Given the description of an element on the screen output the (x, y) to click on. 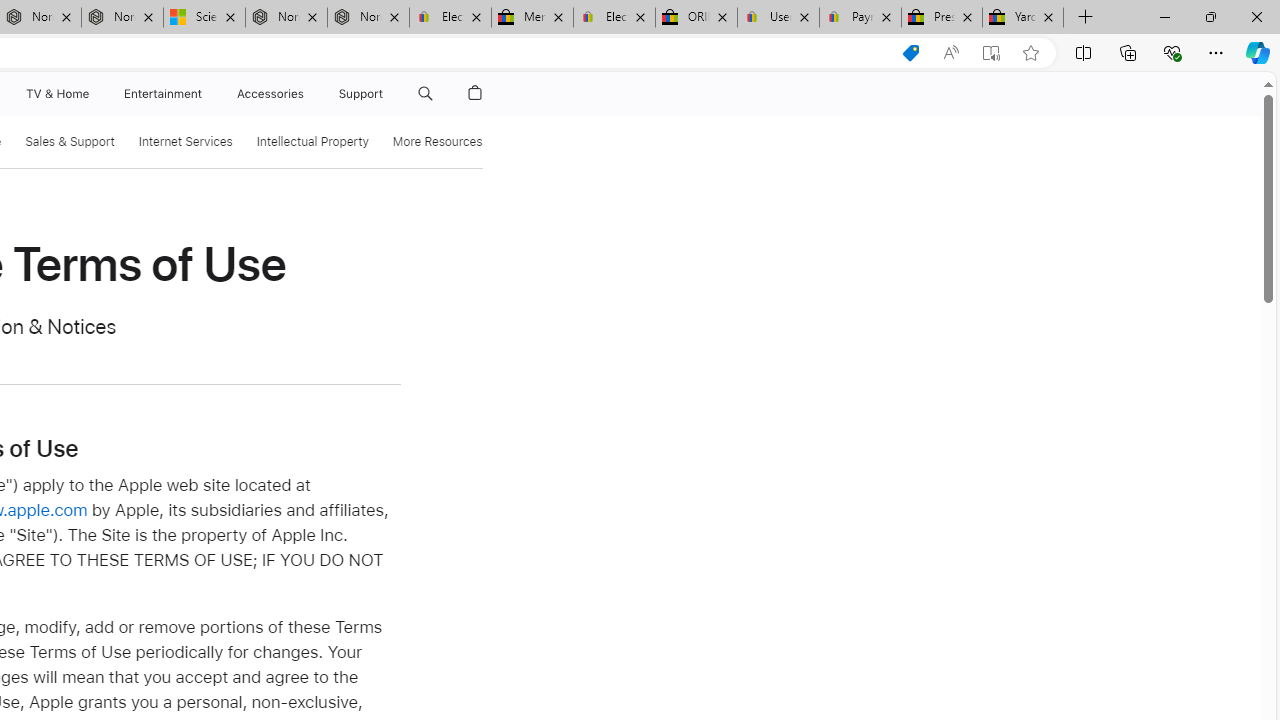
Accessories (269, 93)
Intellectual Property (312, 141)
Entertainment menu (205, 93)
